Given the description of an element on the screen output the (x, y) to click on. 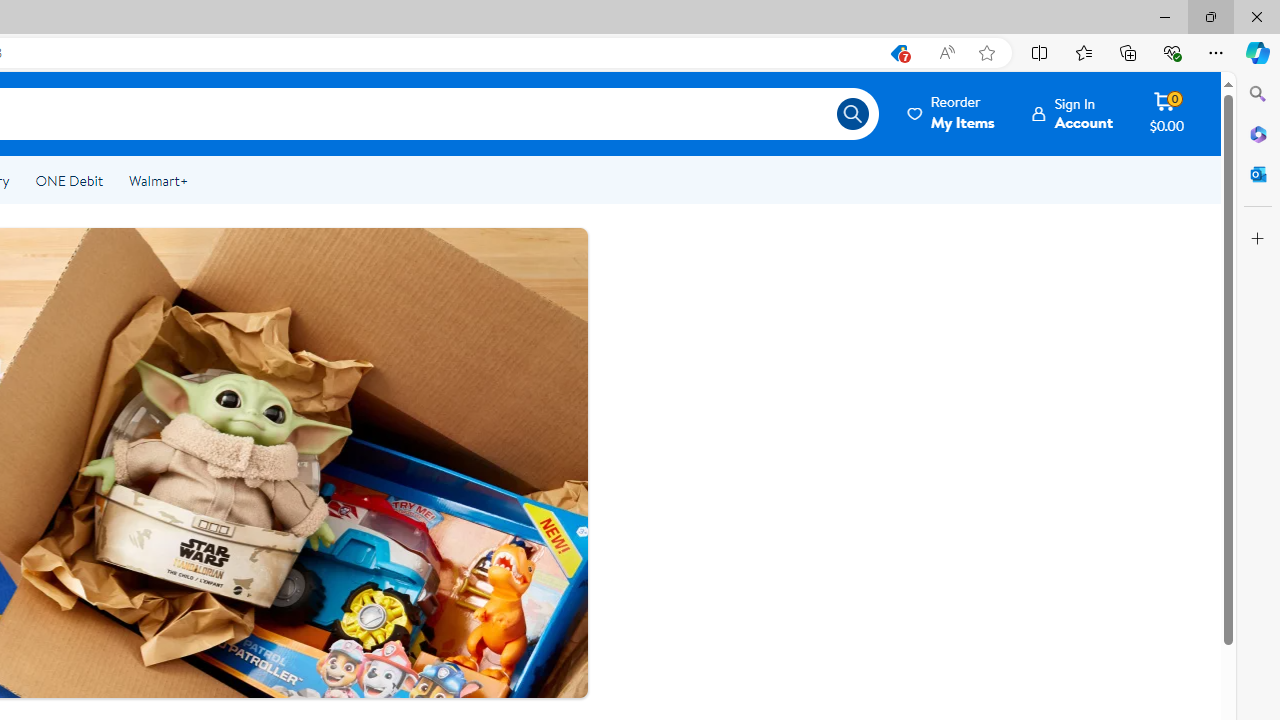
Walmart+ (158, 180)
Search icon (852, 113)
Sign In Account (1072, 113)
Cart contains 0 items Total Amount $0.00 (1166, 113)
This site has coupons! Shopping in Microsoft Edge, 7 (898, 53)
Reorder My Items (952, 113)
Sign InAccount (1072, 113)
